Given the description of an element on the screen output the (x, y) to click on. 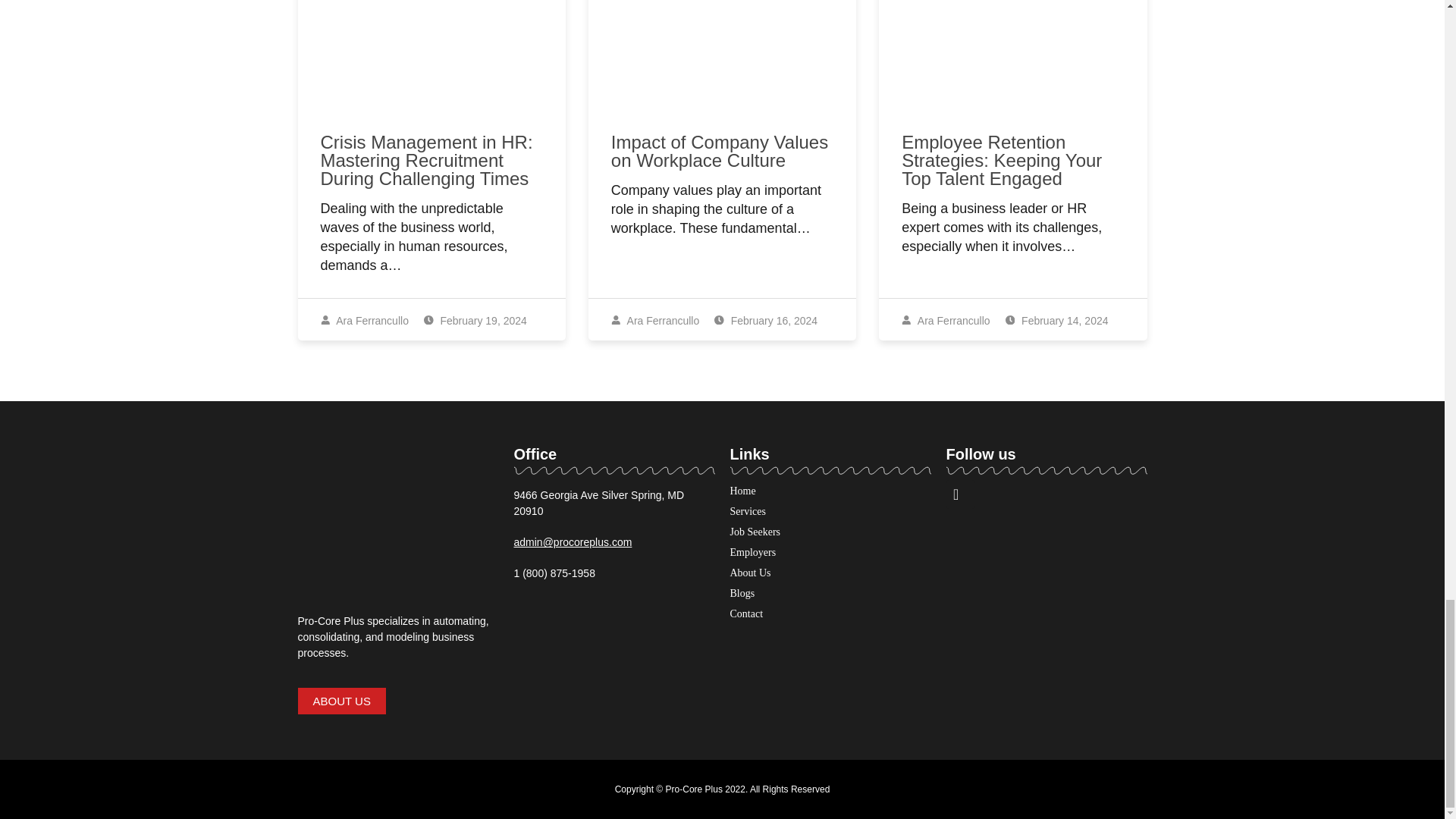
February 16, 2024 (765, 320)
Ara Ferrancullo (654, 320)
Job Seekers (754, 531)
ABOUT US (341, 700)
Ara Ferrancullo (945, 320)
February 19, 2024 (475, 320)
Impact of Company Values on Workplace Culture (719, 150)
Home (742, 490)
About Us (749, 572)
